Given the description of an element on the screen output the (x, y) to click on. 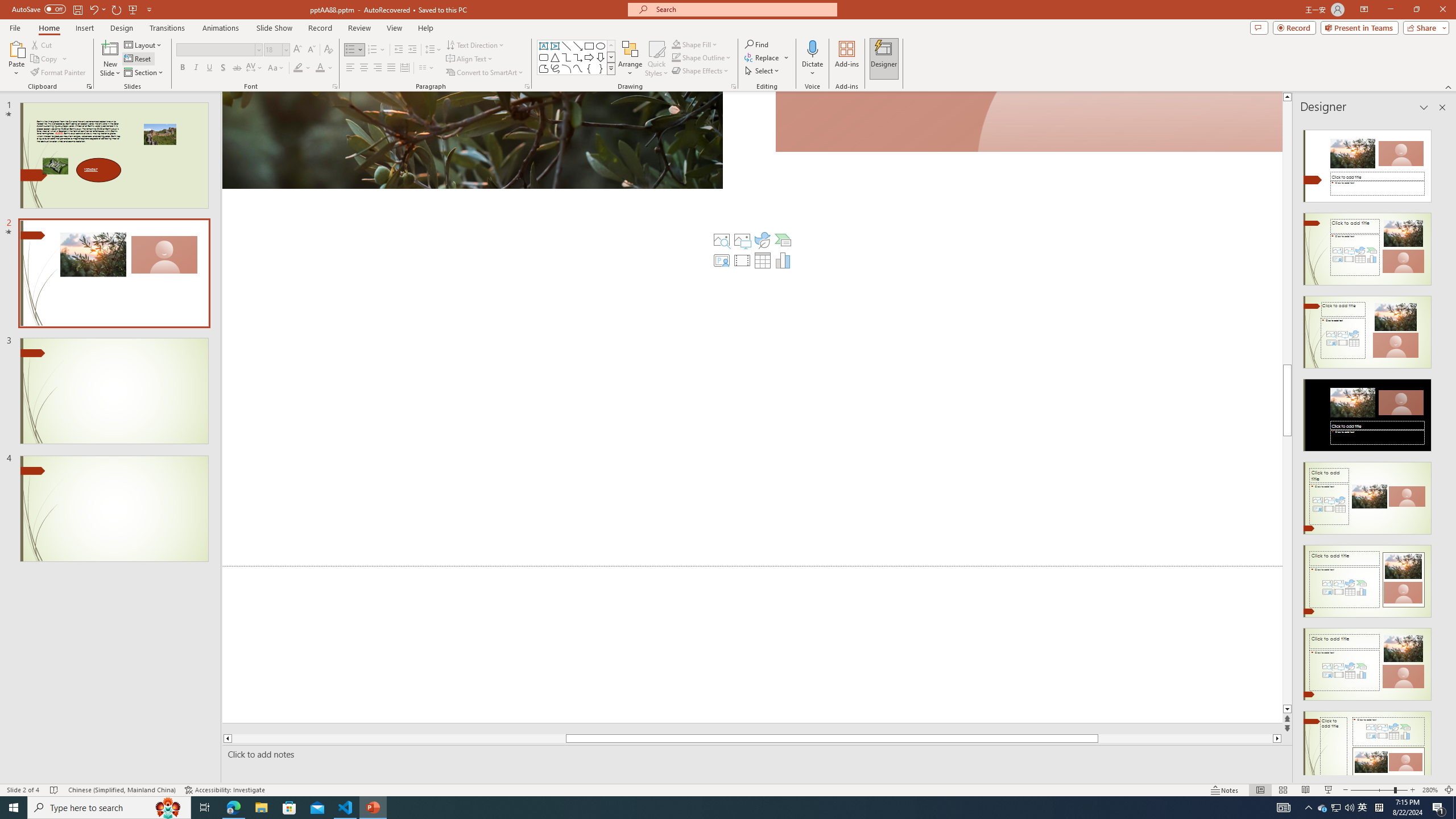
Shape Fill Aqua, Accent 2 (675, 44)
